Given the description of an element on the screen output the (x, y) to click on. 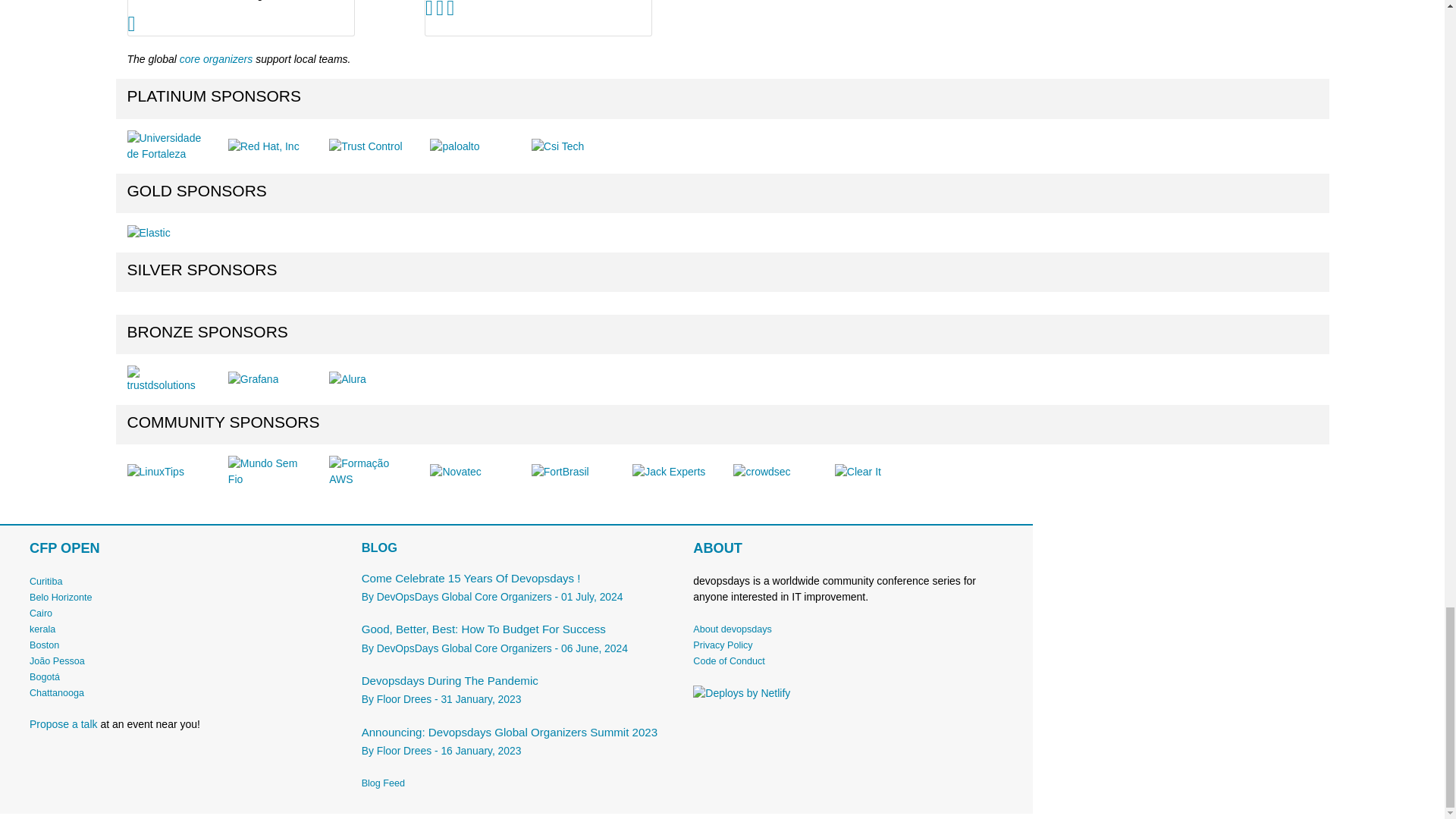
Jack Experts (667, 471)
Mundo Sem Fio (266, 471)
LinuxTips (156, 471)
Clear It (857, 471)
Elastic (149, 232)
crowdsec (761, 471)
Red Hat, Inc (263, 146)
trustdsolutions (166, 379)
Novatec (454, 471)
Grafana (253, 379)
paloalto (454, 146)
Alura (347, 379)
Universidade de Fortaleza (166, 146)
FortBrasil (560, 471)
Trust Control (365, 146)
